Given the description of an element on the screen output the (x, y) to click on. 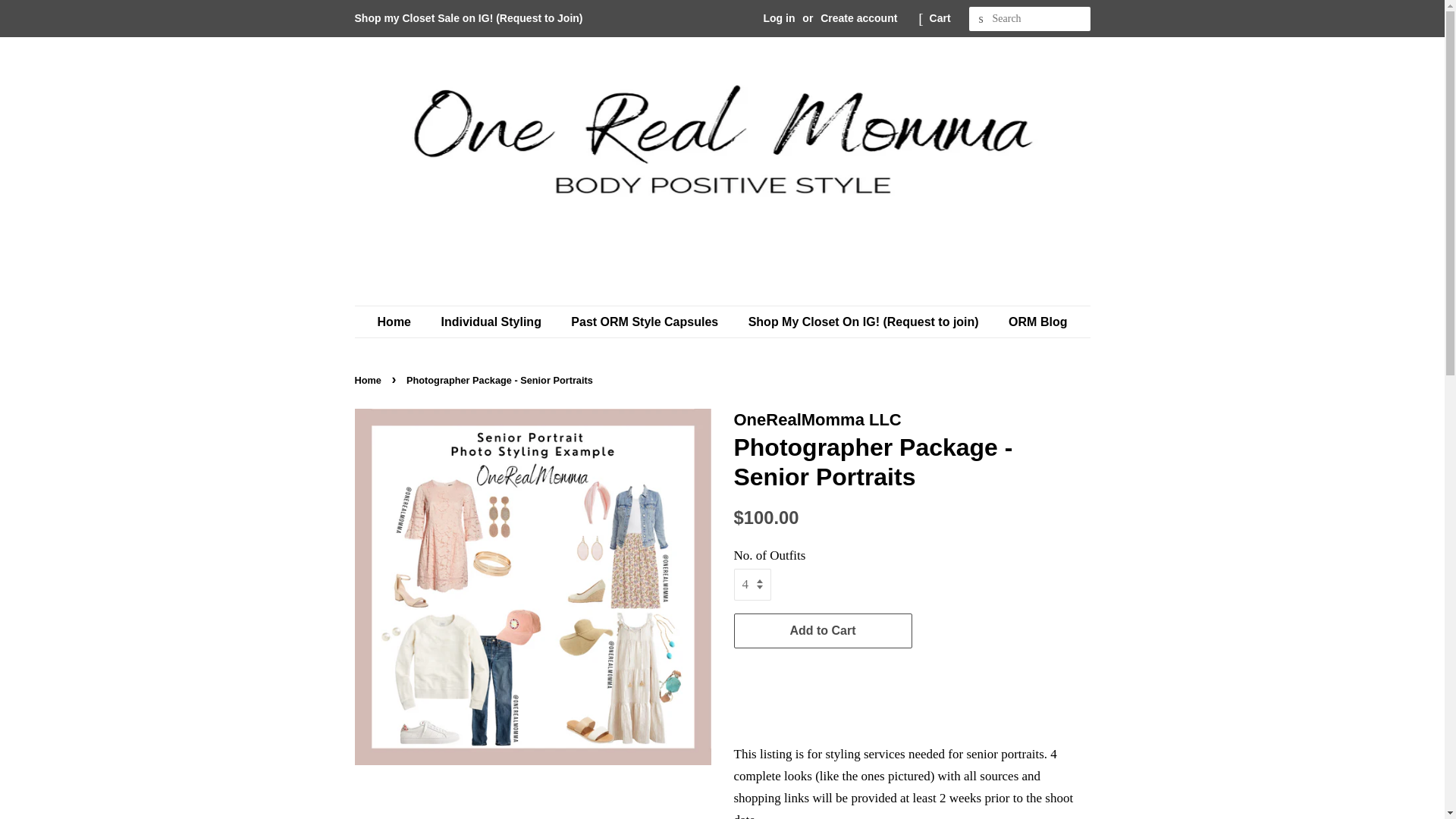
Add to Cart (822, 631)
Search (980, 18)
Individual Styling (492, 321)
Back to the frontpage (370, 379)
ORM Blog (1032, 321)
Past ORM Style Capsules (646, 321)
Home (370, 379)
Cart (940, 18)
Log in (778, 18)
Create account (858, 18)
Home (401, 321)
